Given the description of an element on the screen output the (x, y) to click on. 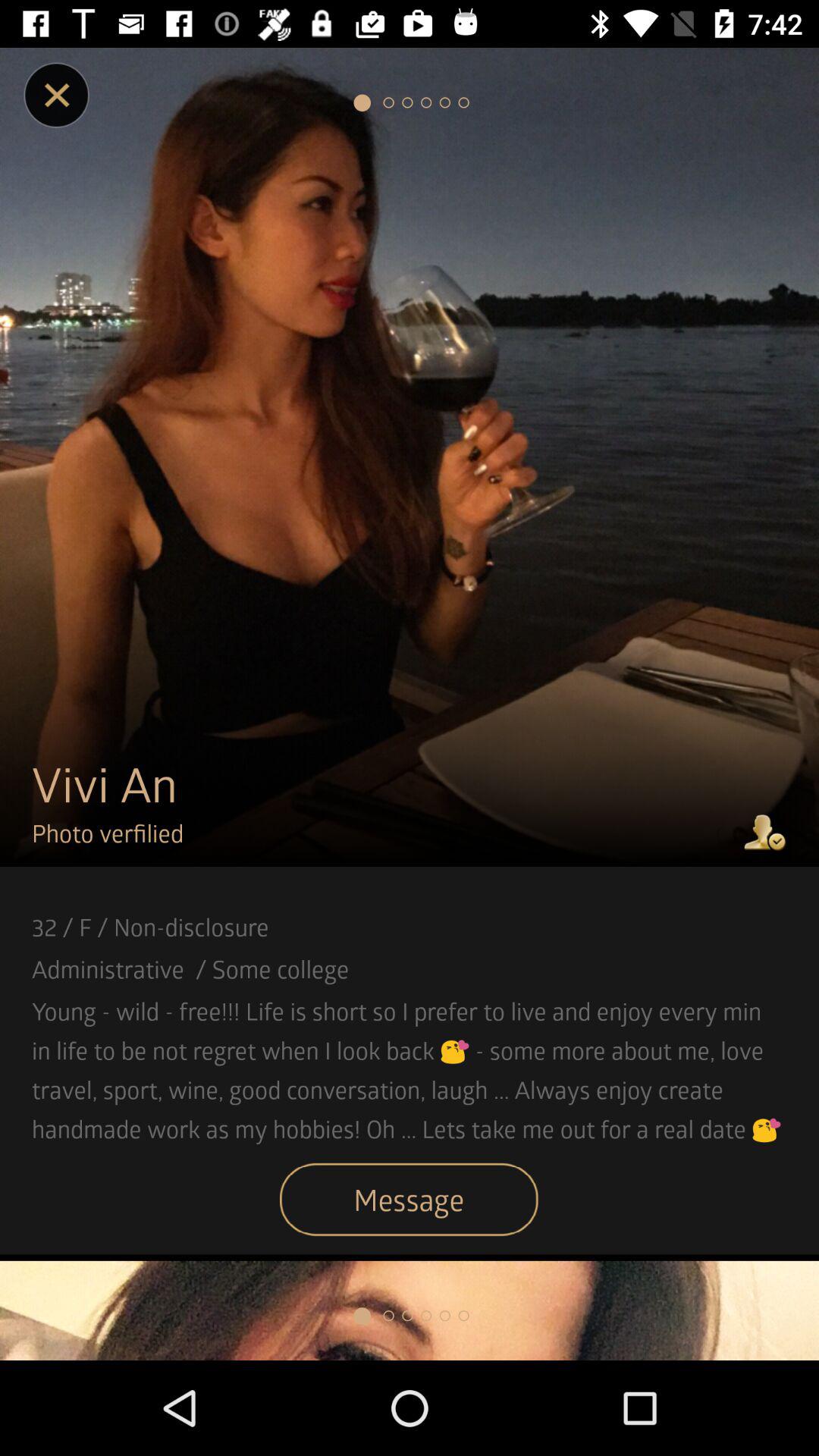
click on the second button at bottom of the page (388, 1315)
